Given the description of an element on the screen output the (x, y) to click on. 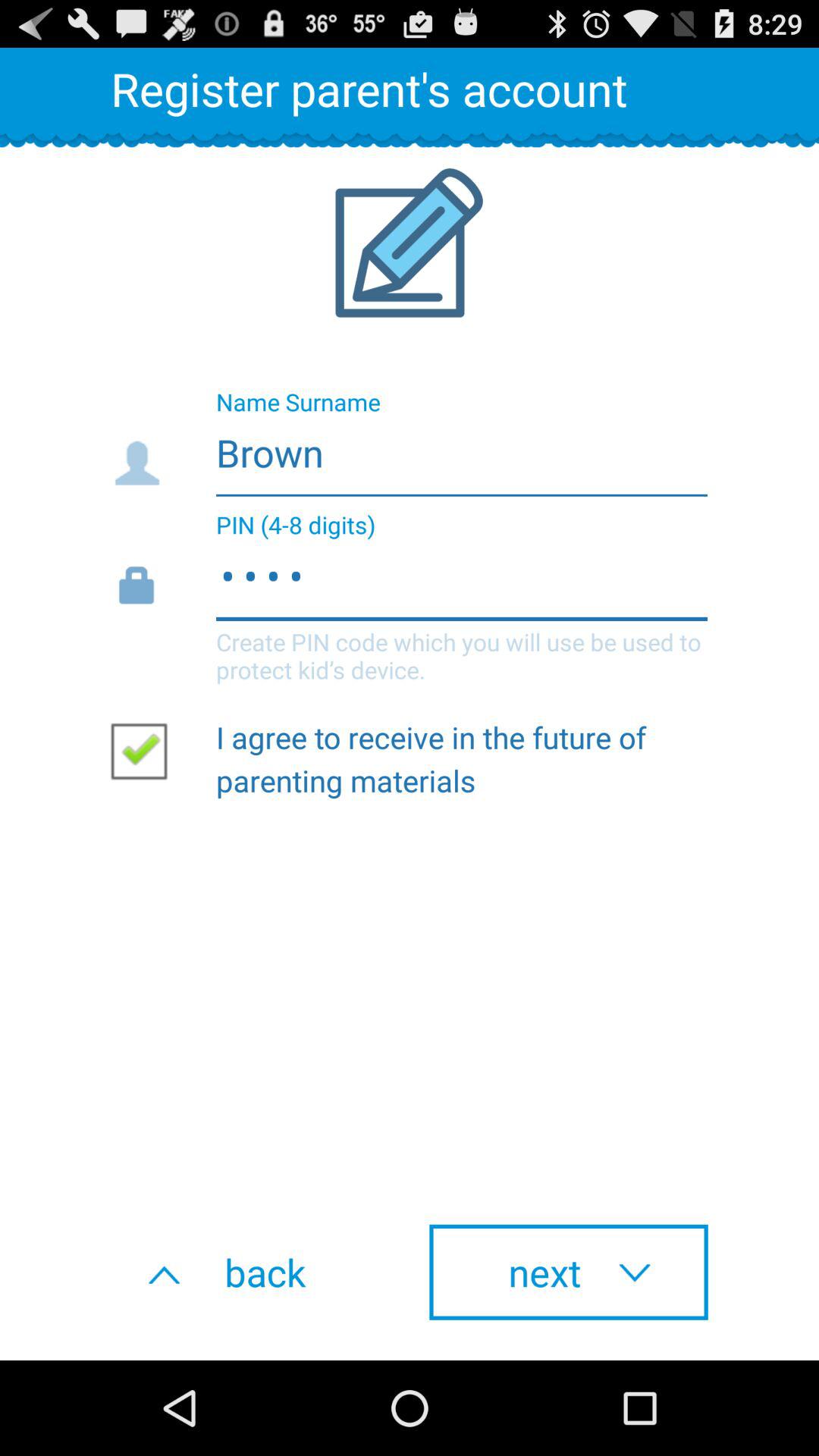
select the item next to i agree to icon (145, 750)
